Given the description of an element on the screen output the (x, y) to click on. 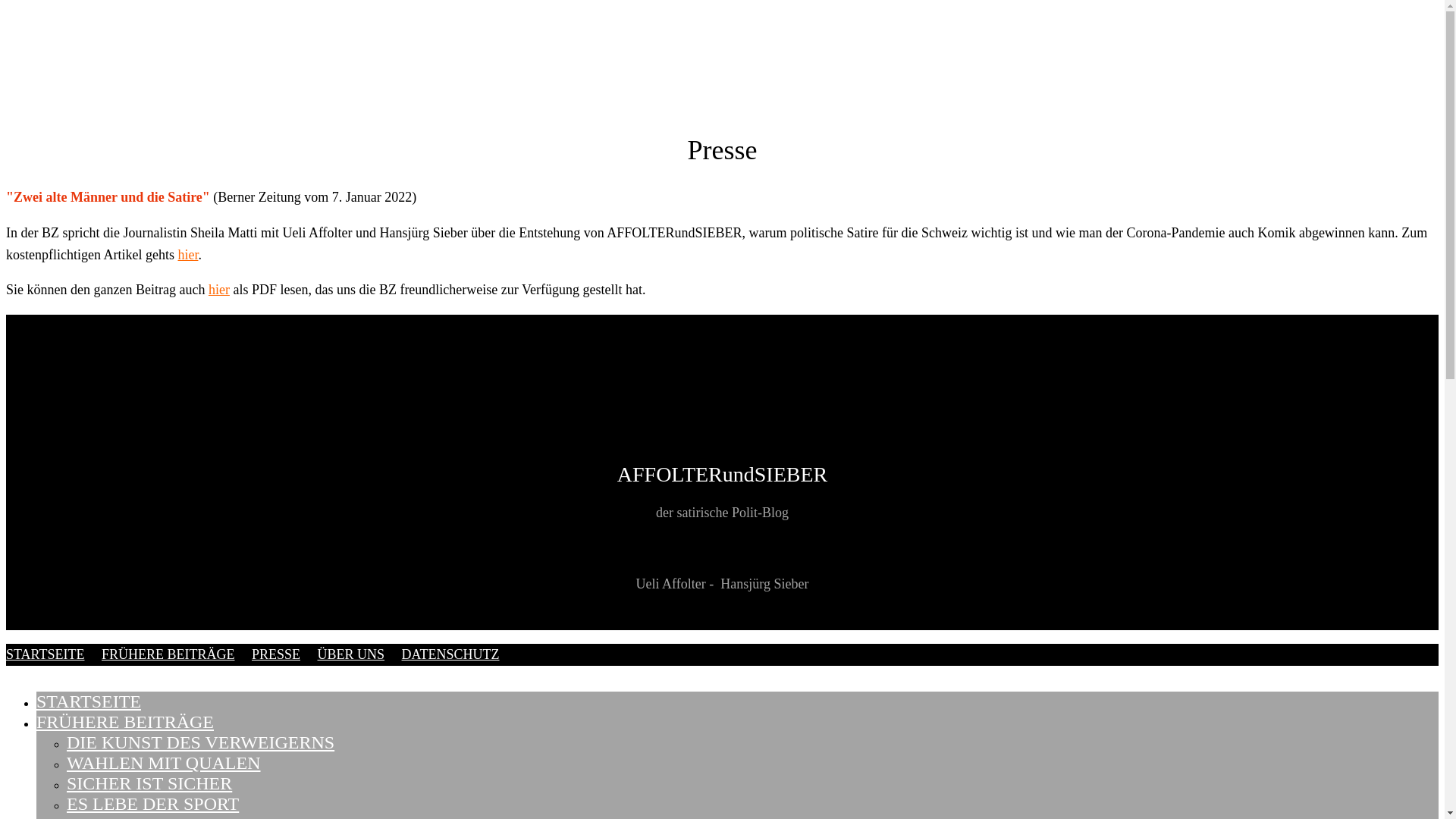
PRESSE Element type: text (275, 654)
DATENSCHUTZ Element type: text (450, 654)
hier Element type: text (218, 289)
STARTSEITE Element type: text (88, 701)
ES LEBE DER SPORT Element type: text (152, 803)
WAHLEN MIT QUALEN Element type: text (163, 762)
hier Element type: text (187, 254)
DIE KUNST DES VERWEIGERNS Element type: text (200, 742)
STARTSEITE Element type: text (45, 654)
SICHER IST SICHER Element type: text (149, 783)
